Given the description of an element on the screen output the (x, y) to click on. 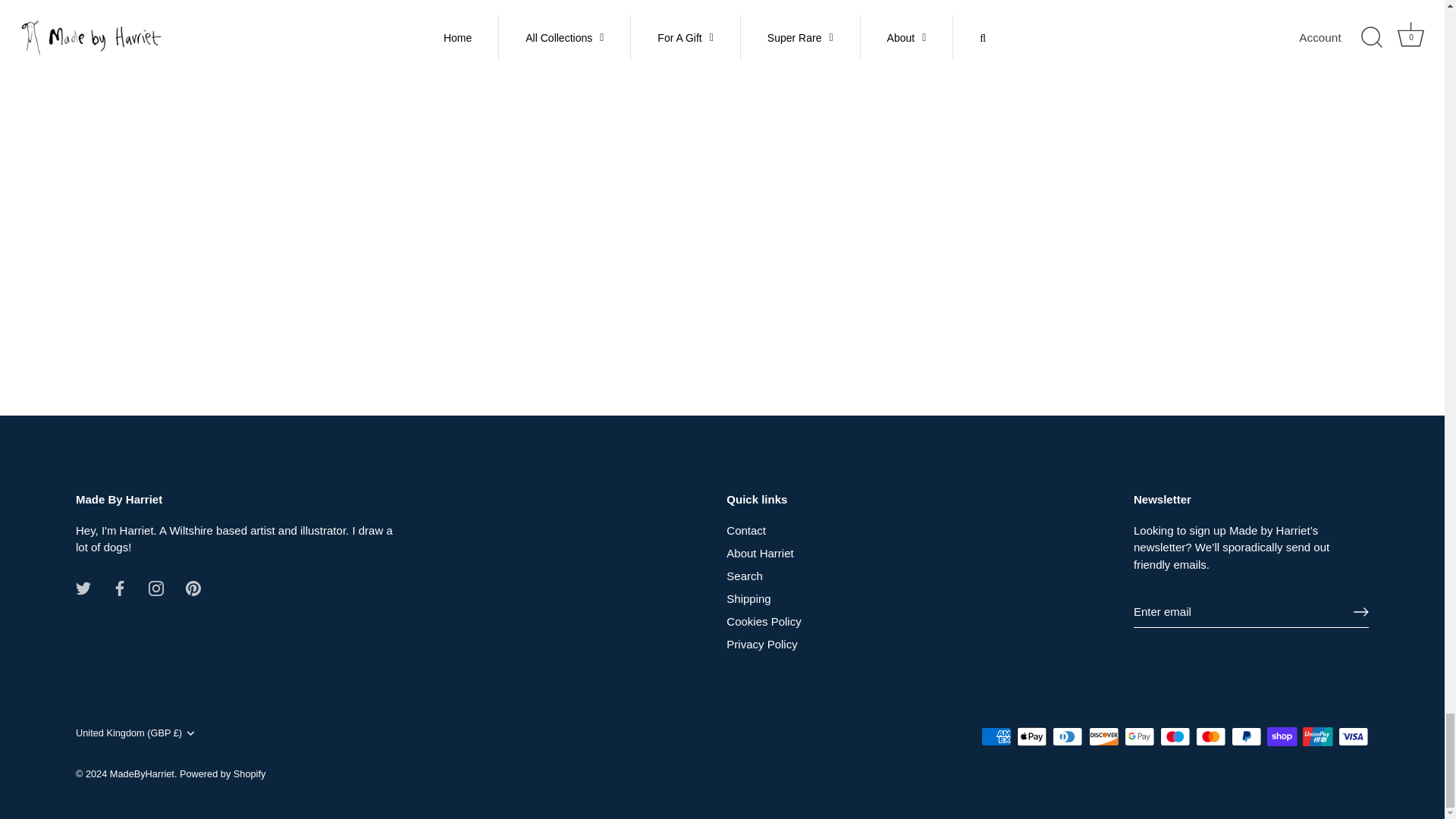
RIGHT ARROW LONG (1361, 611)
Google Pay (1139, 736)
Diners Club (1067, 736)
Discover (1104, 736)
Instagram (155, 588)
Pinterest (193, 588)
Maestro (1174, 736)
American Express (996, 736)
Mastercard (1210, 736)
PayPal (1245, 736)
Apple Pay (1031, 736)
Twitter (82, 588)
Shop Pay (1281, 736)
